Given the description of an element on the screen output the (x, y) to click on. 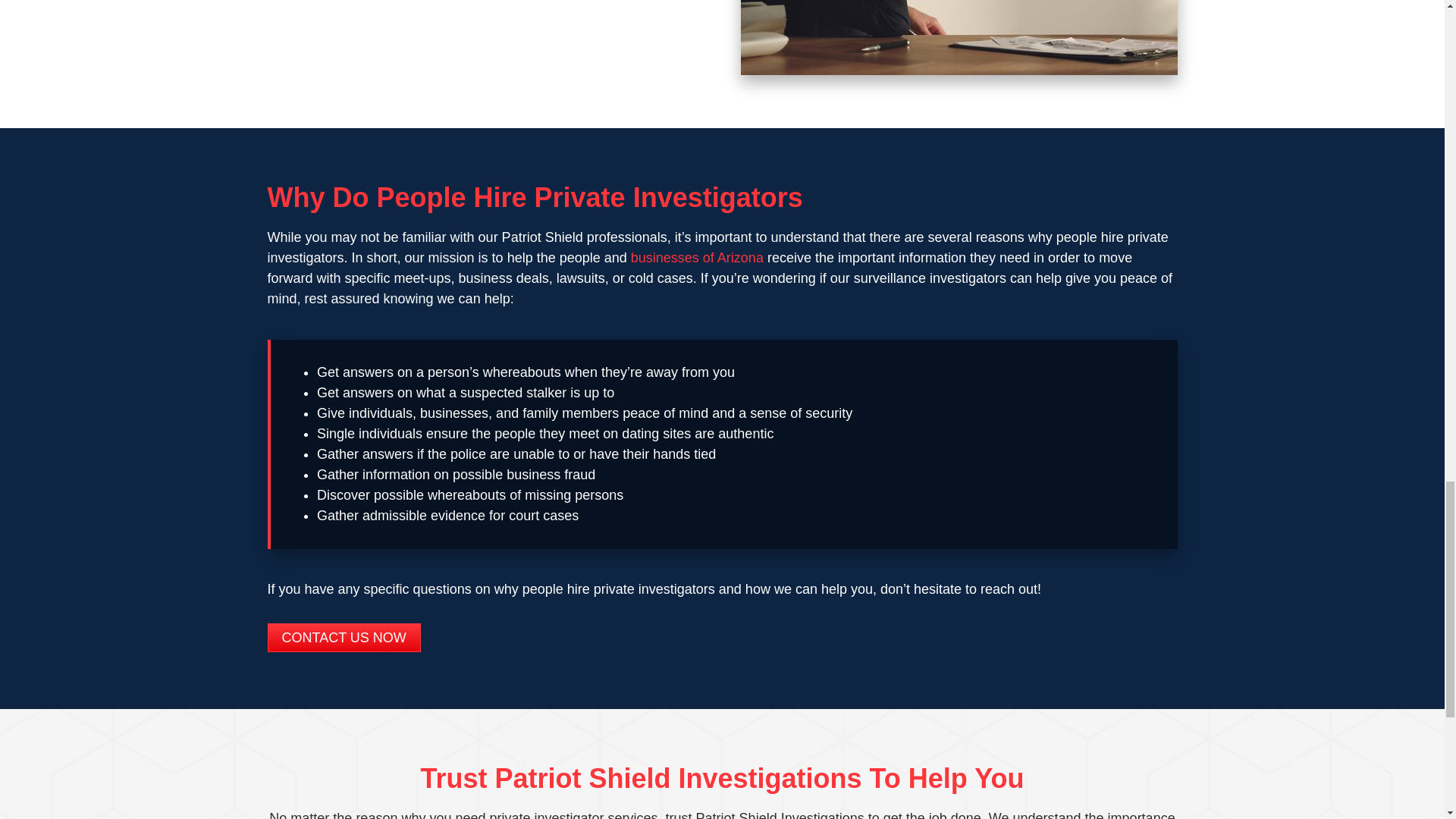
CONTACT US NOW (343, 637)
businesses of Arizona (696, 257)
